Given the description of an element on the screen output the (x, y) to click on. 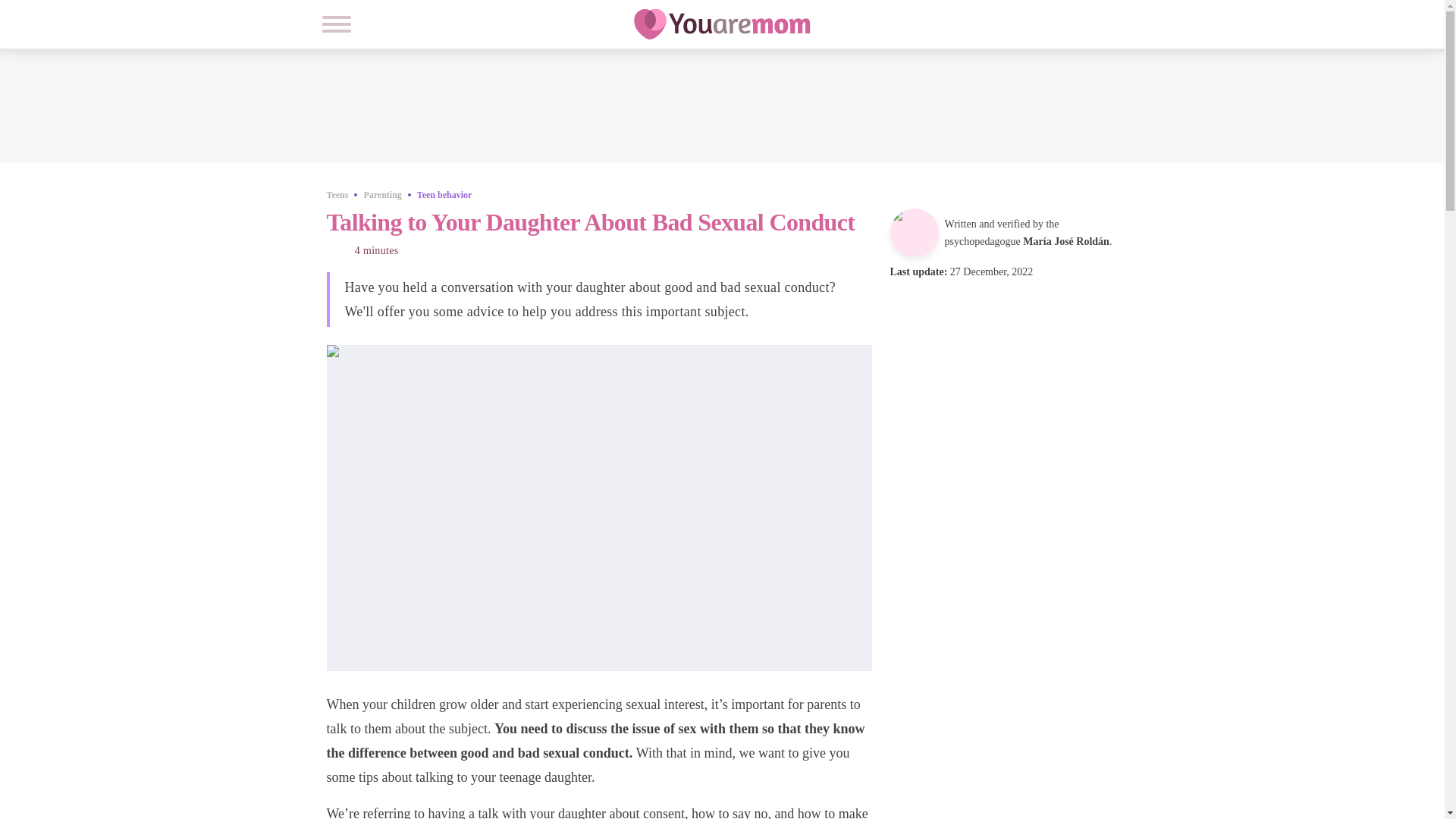
Teen behavior (443, 193)
Teens (336, 193)
Parenting (381, 193)
Teens (336, 193)
Teen behavior (443, 193)
Parenting (381, 193)
